Given the description of an element on the screen output the (x, y) to click on. 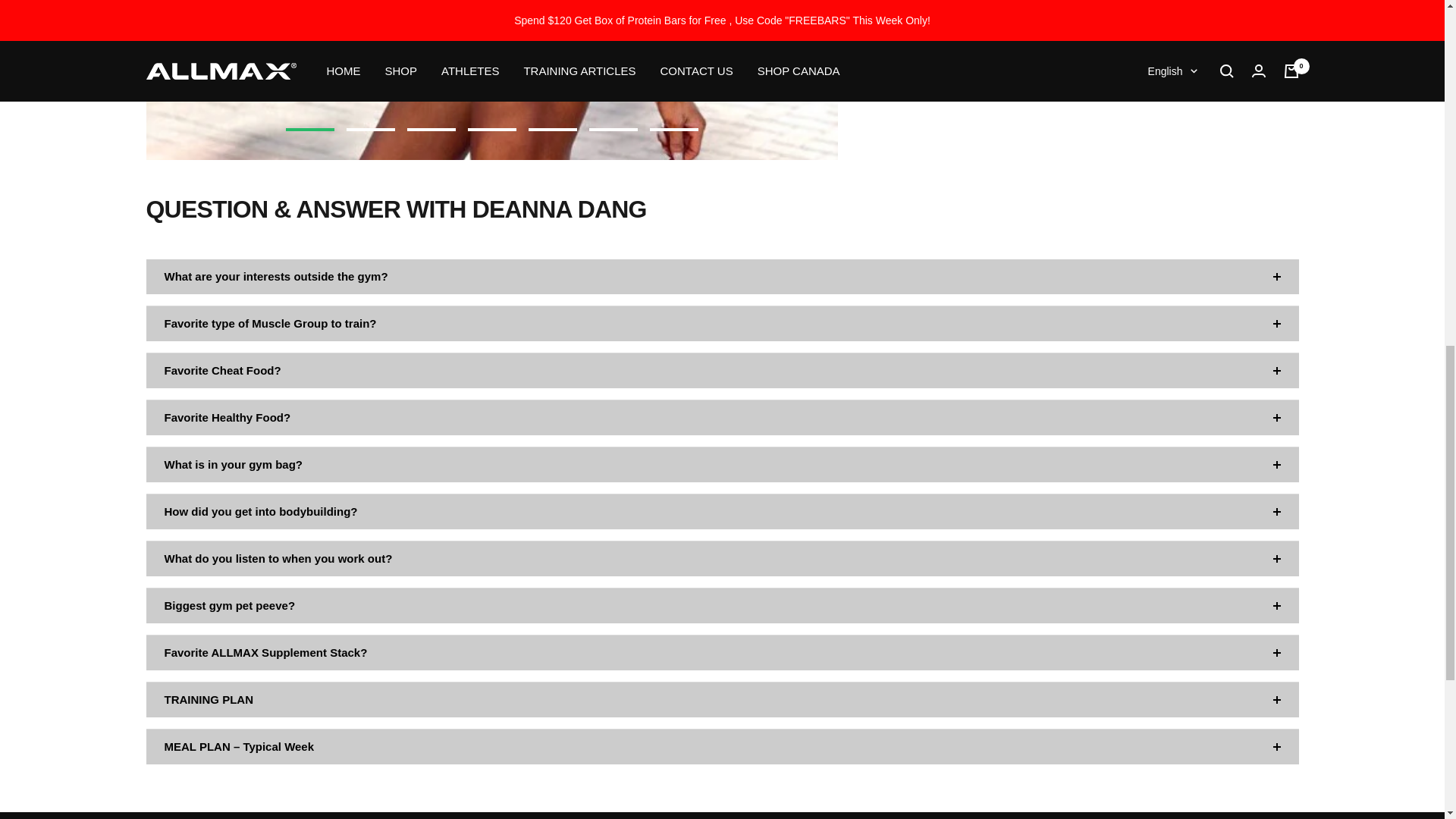
What is in your gym bag? (721, 464)
Go to slide 7 (673, 128)
Biggest gym pet peeve? (721, 605)
Favorite Healthy Food? (721, 417)
Go to slide 6 (612, 128)
Go to slide 2 (370, 128)
Go to slide 4 (491, 128)
Go to slide 1 (309, 128)
How did you get into bodybuilding? (721, 511)
Favorite type of Muscle Group to train? (721, 323)
